Given the description of an element on the screen output the (x, y) to click on. 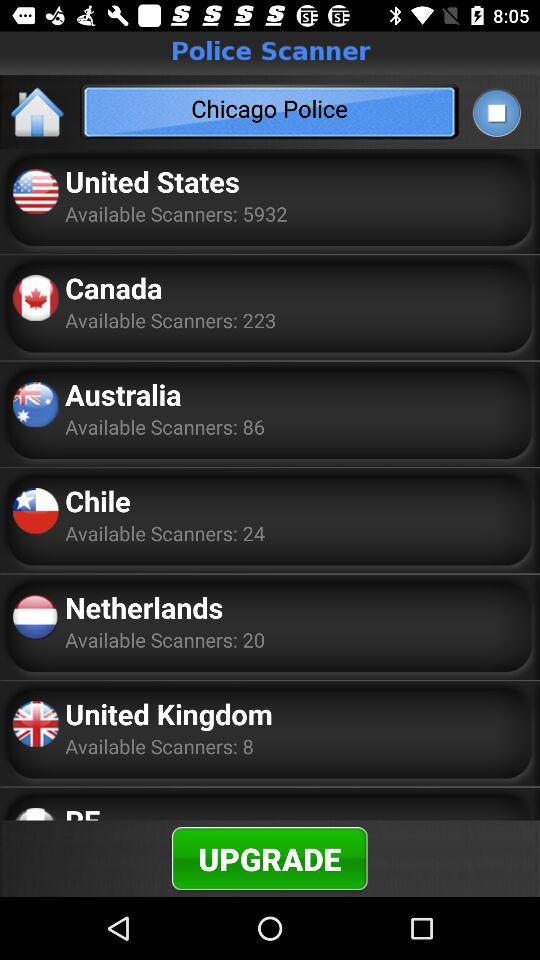
tap the app to the right of chicago police app (496, 111)
